Given the description of an element on the screen output the (x, y) to click on. 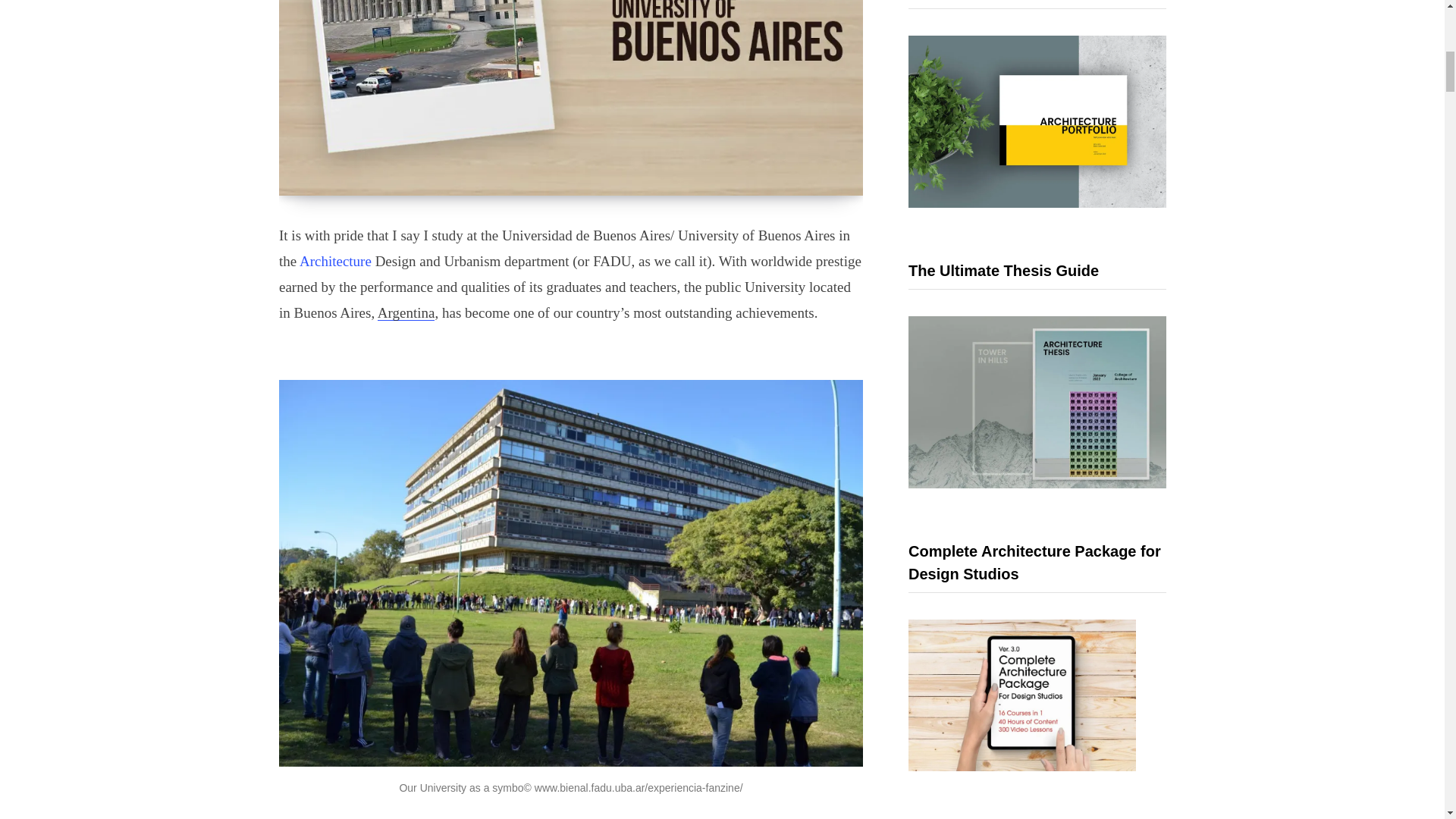
Campus life at University of Buenos Aires (571, 97)
